Given the description of an element on the screen output the (x, y) to click on. 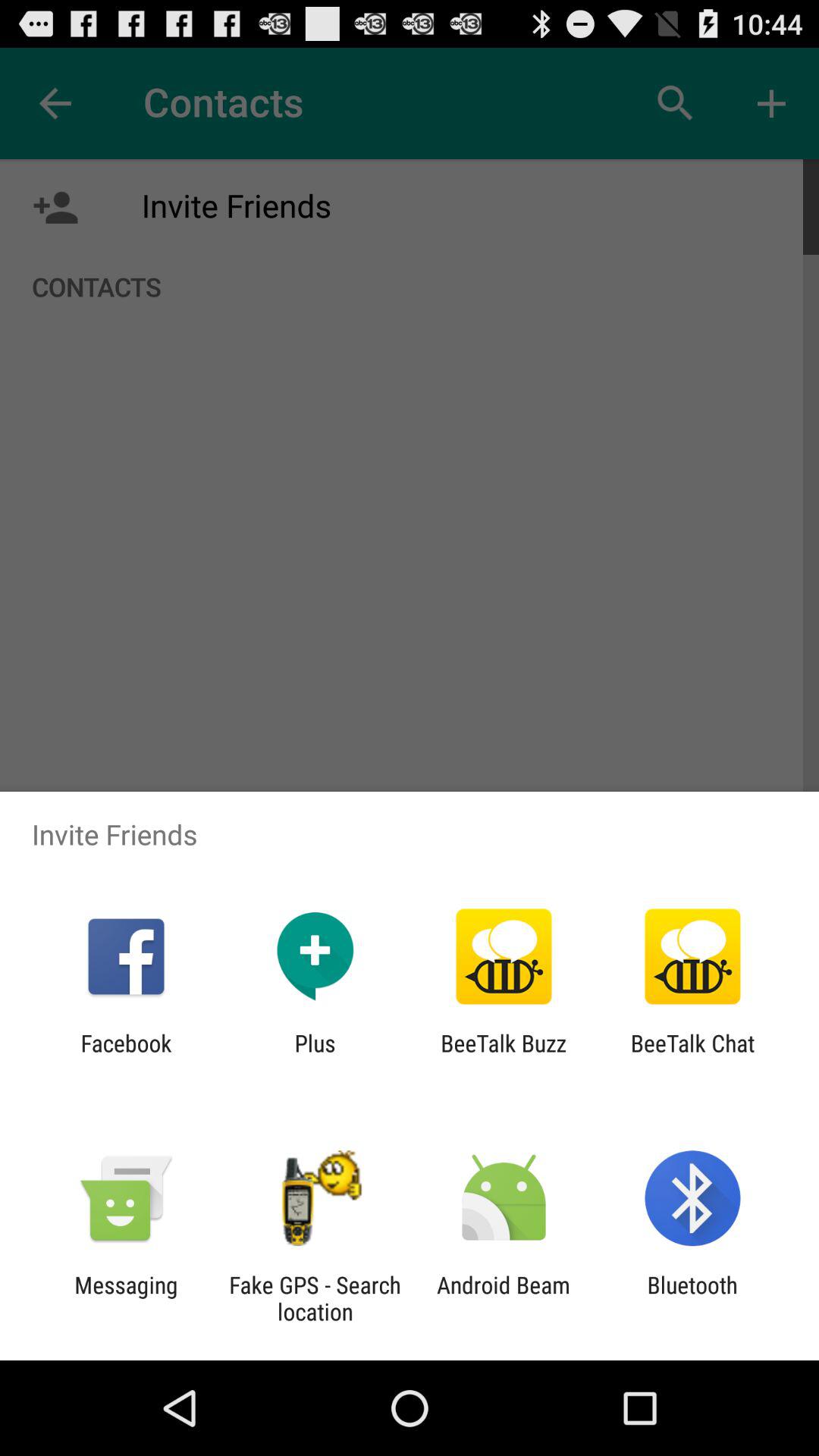
select beetalk buzz (503, 1056)
